Given the description of an element on the screen output the (x, y) to click on. 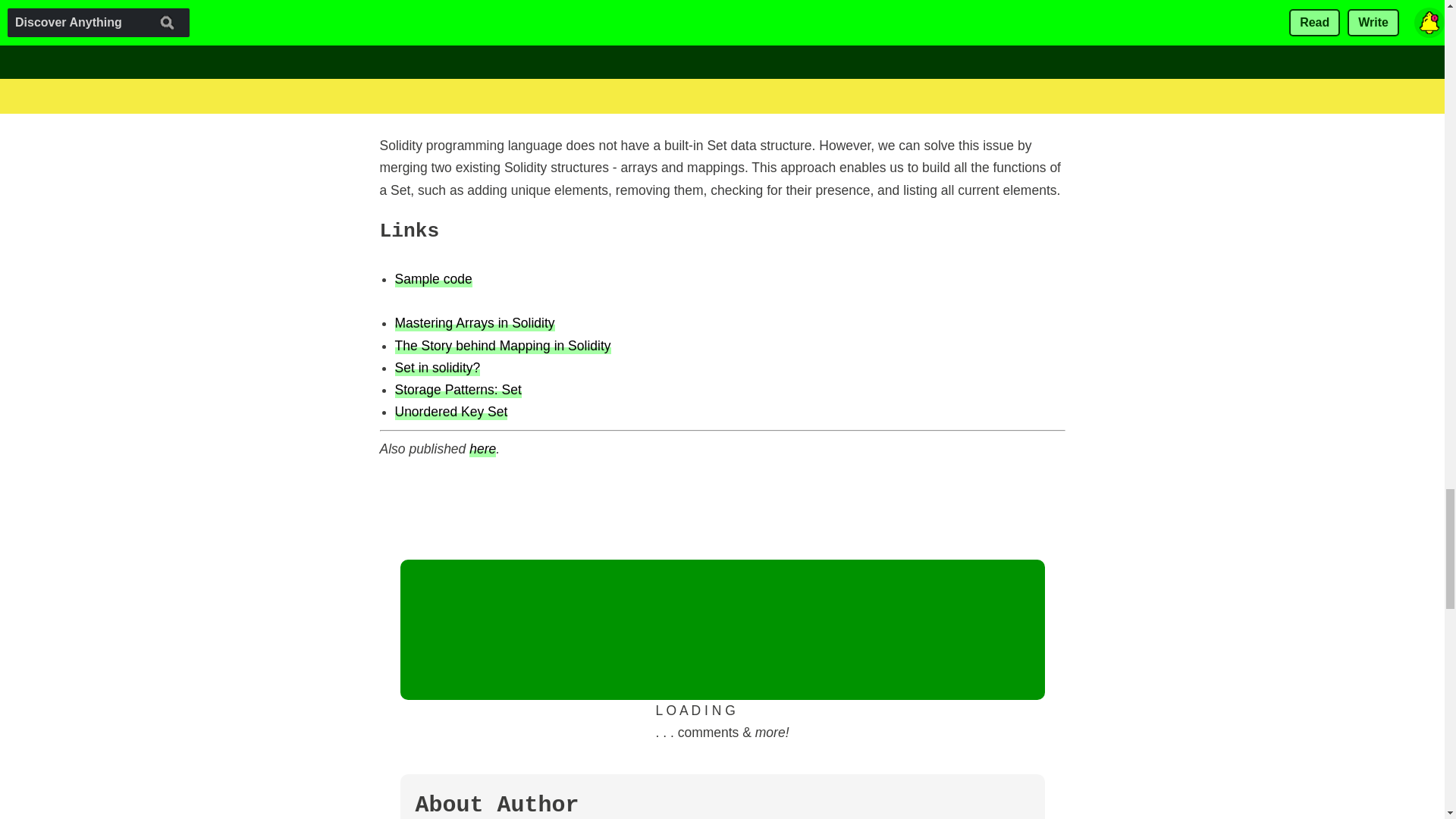
Unordered Key Set (450, 411)
here (482, 448)
Mastering Arrays in Solidity (474, 322)
The Story behind Mapping in Solidity (502, 344)
Set in solidity? (437, 366)
Sample code (432, 278)
Storage Patterns: Set (457, 389)
